Given the description of an element on the screen output the (x, y) to click on. 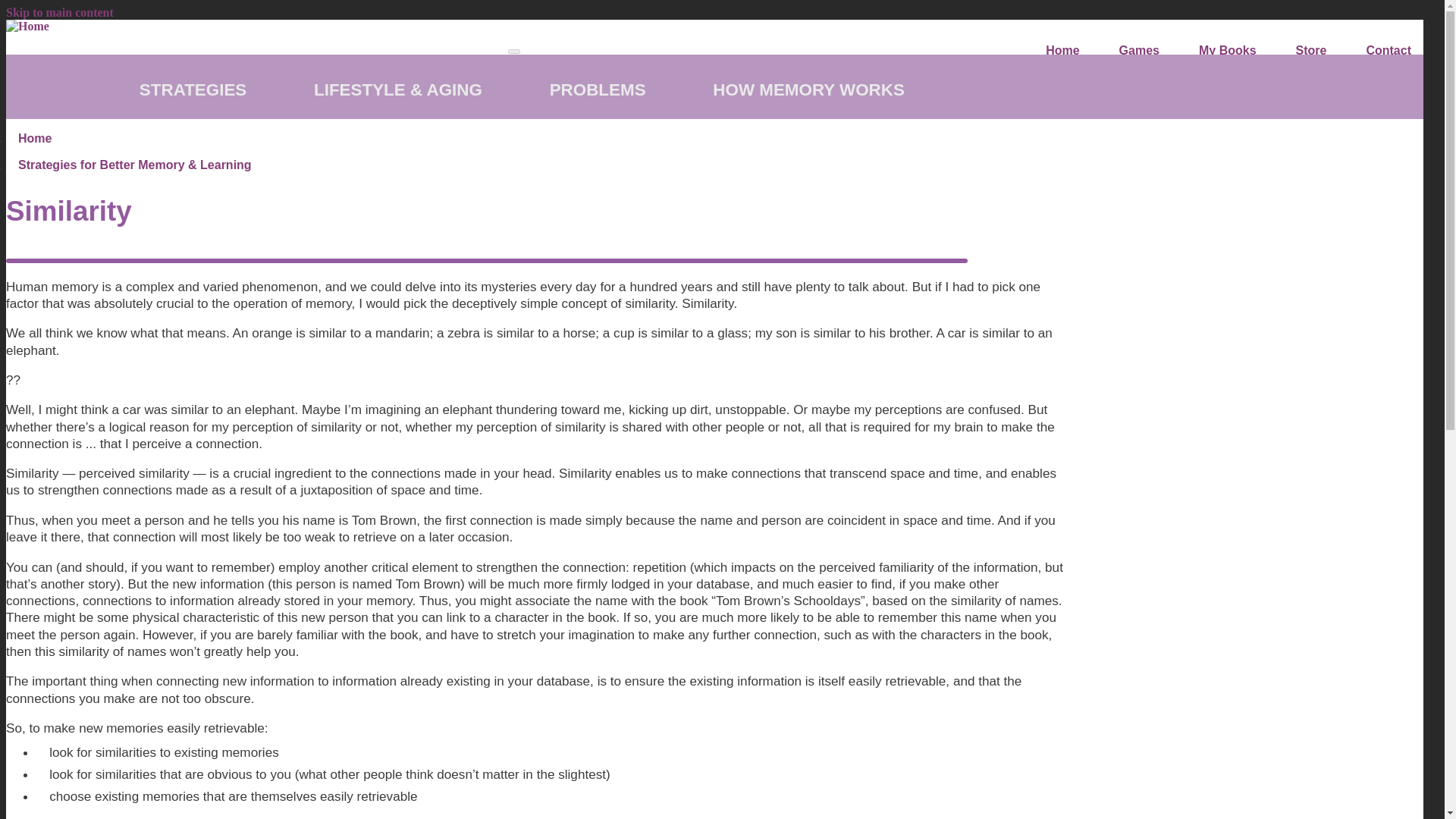
STRATEGIES (191, 89)
Store (1311, 50)
Skip to main content (59, 11)
Home (27, 25)
Contact (1388, 50)
My Books (1227, 50)
Games (1139, 50)
Home (1061, 50)
Books by Dr McPherson (1227, 50)
The Mempowered Store is hosted on the Wayz Press website. (1311, 50)
